Given the description of an element on the screen output the (x, y) to click on. 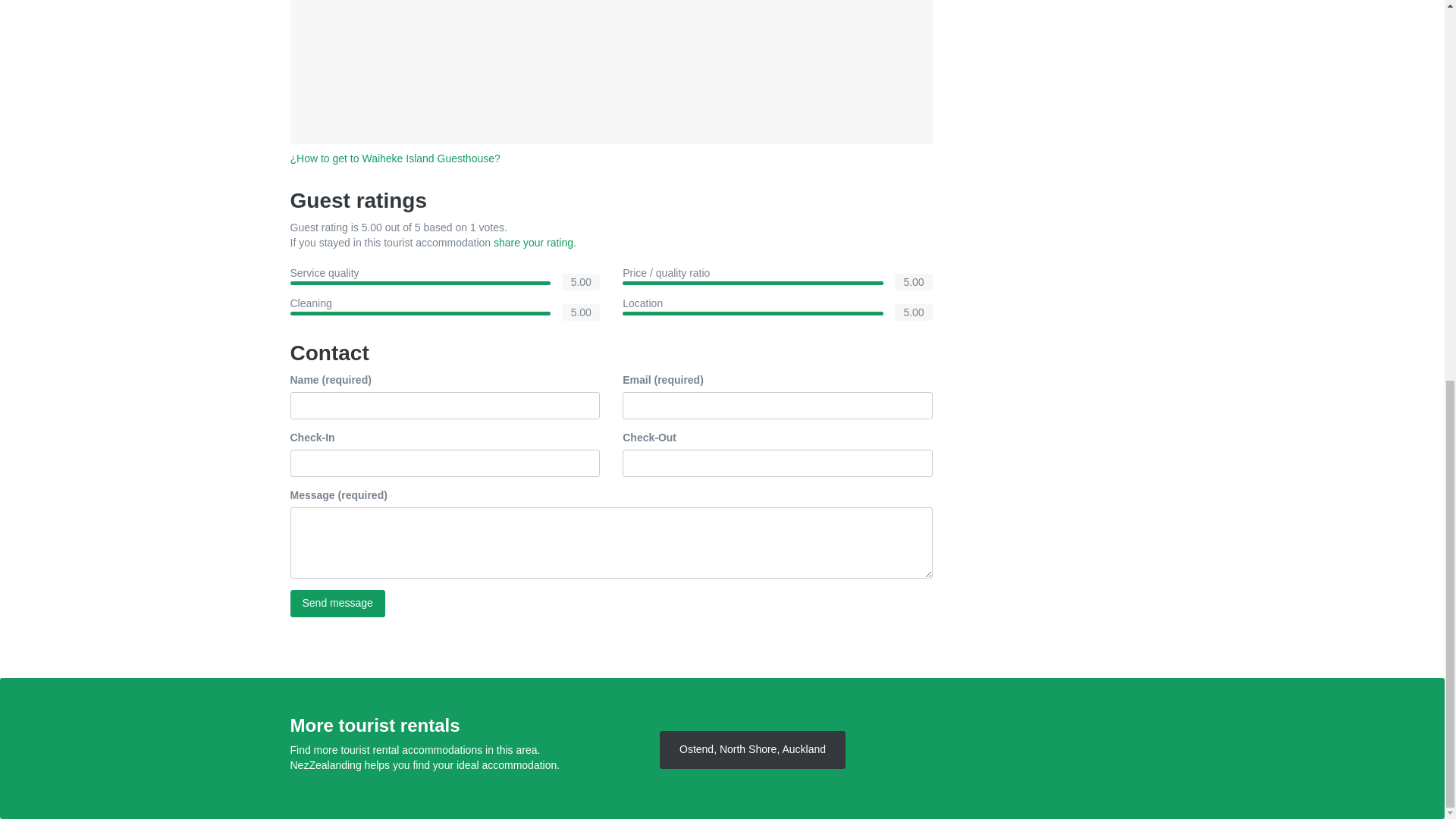
share your rating (533, 242)
Ostend, North Shore, Auckland (752, 750)
Send message (336, 603)
